Given the description of an element on the screen output the (x, y) to click on. 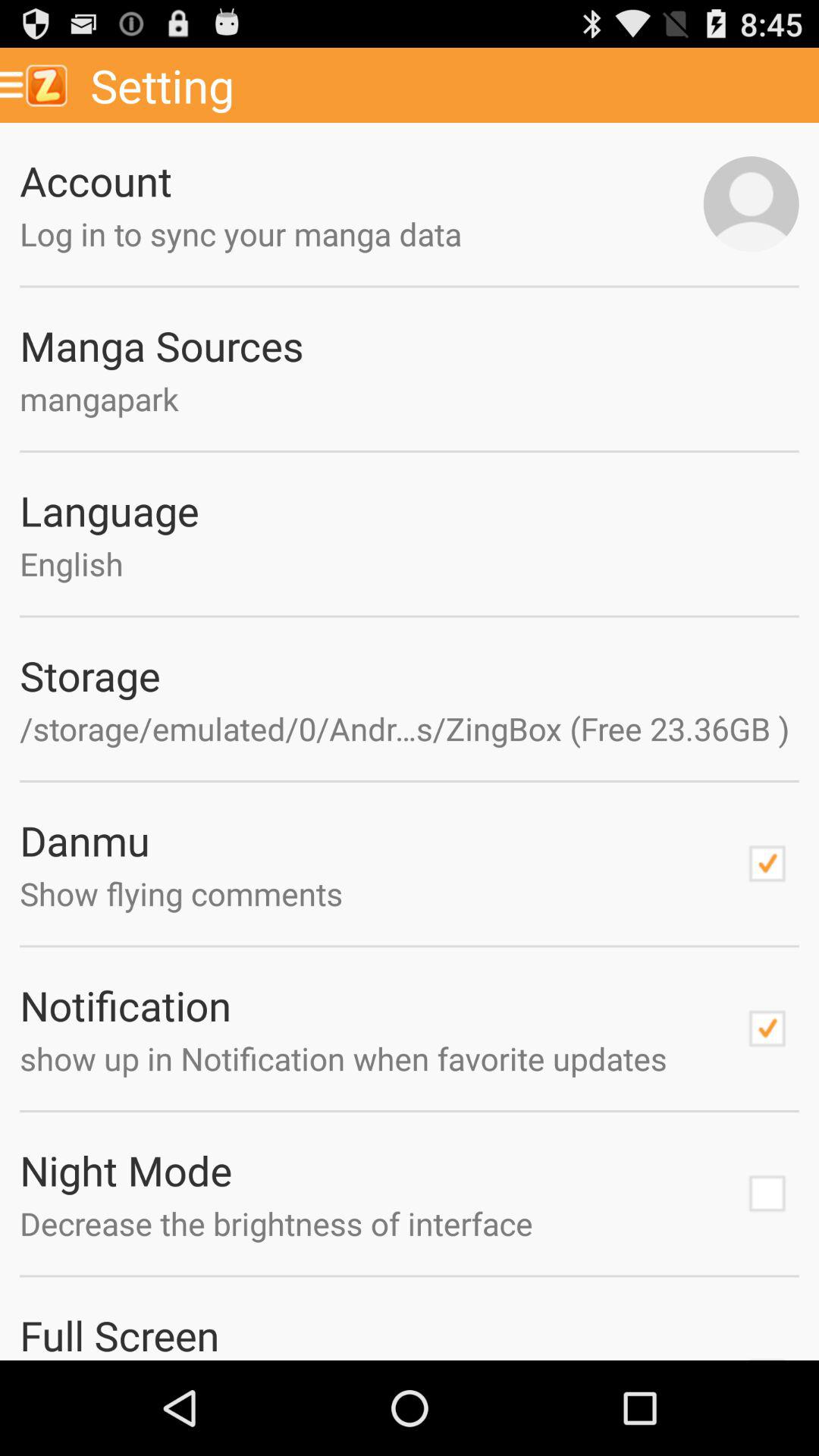
check mark box (767, 1028)
